Given the description of an element on the screen output the (x, y) to click on. 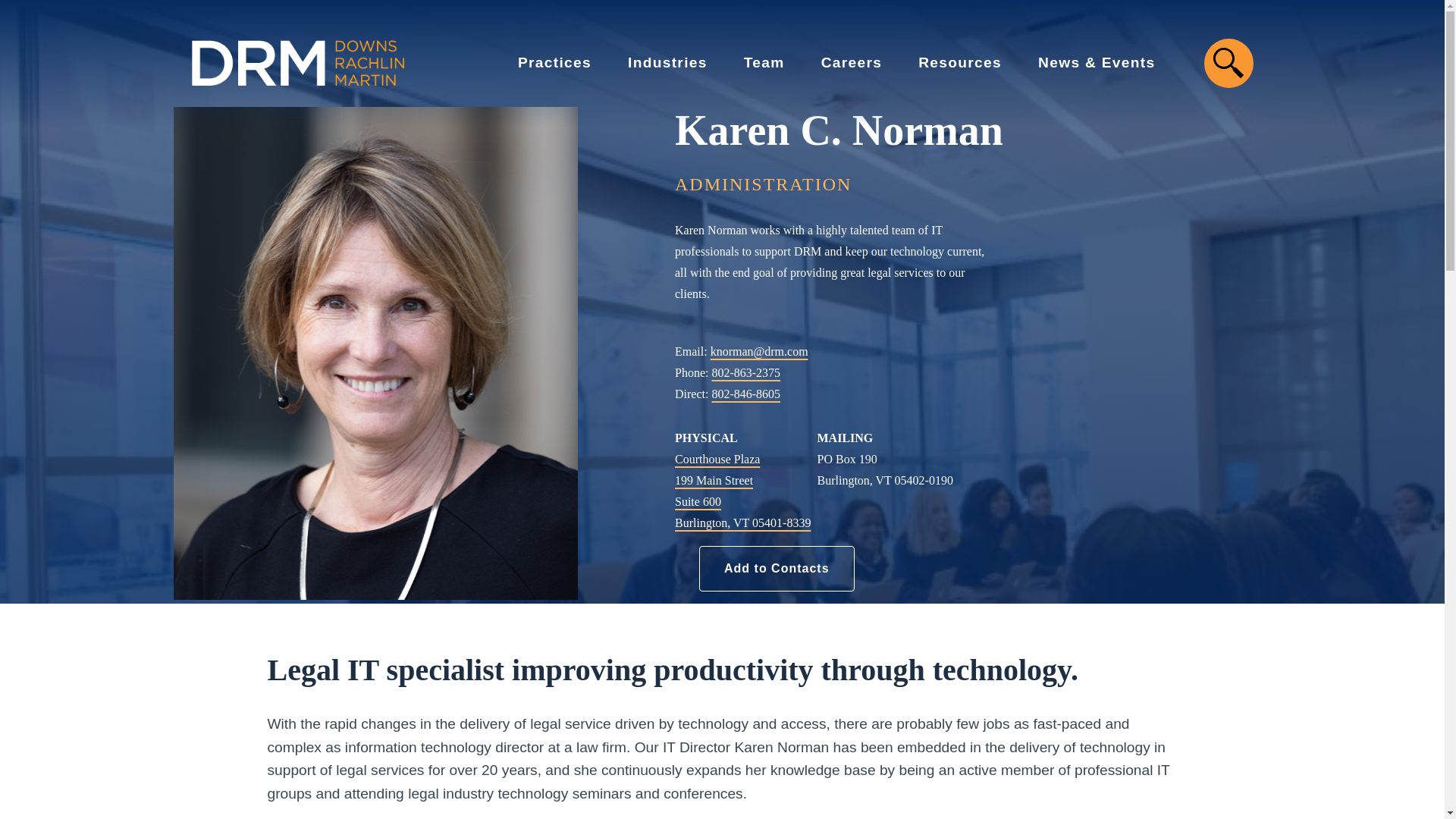
Team (745, 63)
Resources (941, 63)
home (297, 62)
Industries (649, 63)
Practices (536, 63)
Careers (833, 63)
